Given the description of an element on the screen output the (x, y) to click on. 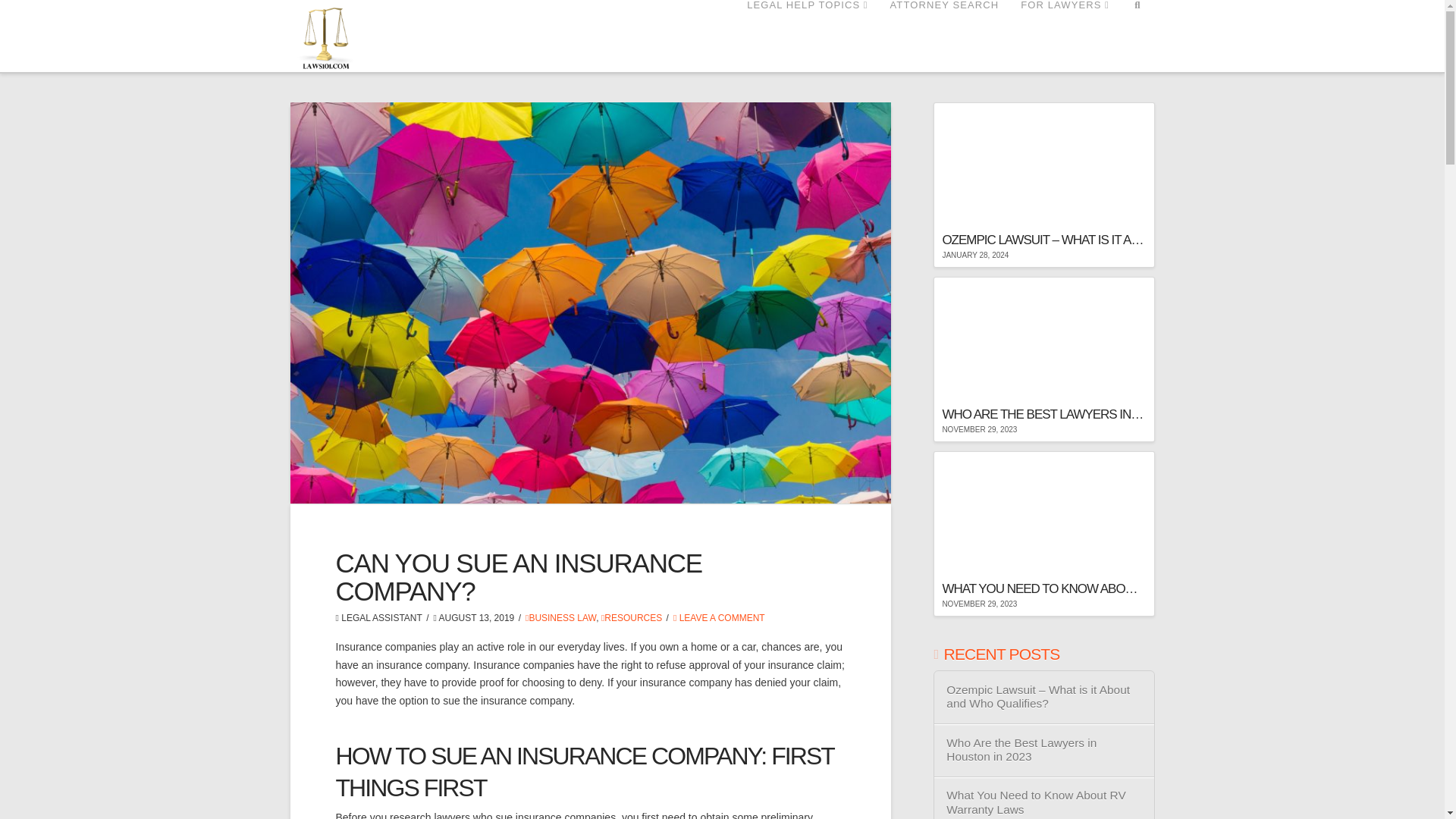
ATTORNEY SEARCH (944, 36)
Permalink to: "What You Need to Know About RV Warranty Laws" (1043, 533)
FOR LAWYERS (1064, 36)
Permalink to: "Who Are the Best Lawyers in Houston in 2023" (1043, 359)
LEGAL HELP TOPICS (806, 36)
